Given the description of an element on the screen output the (x, y) to click on. 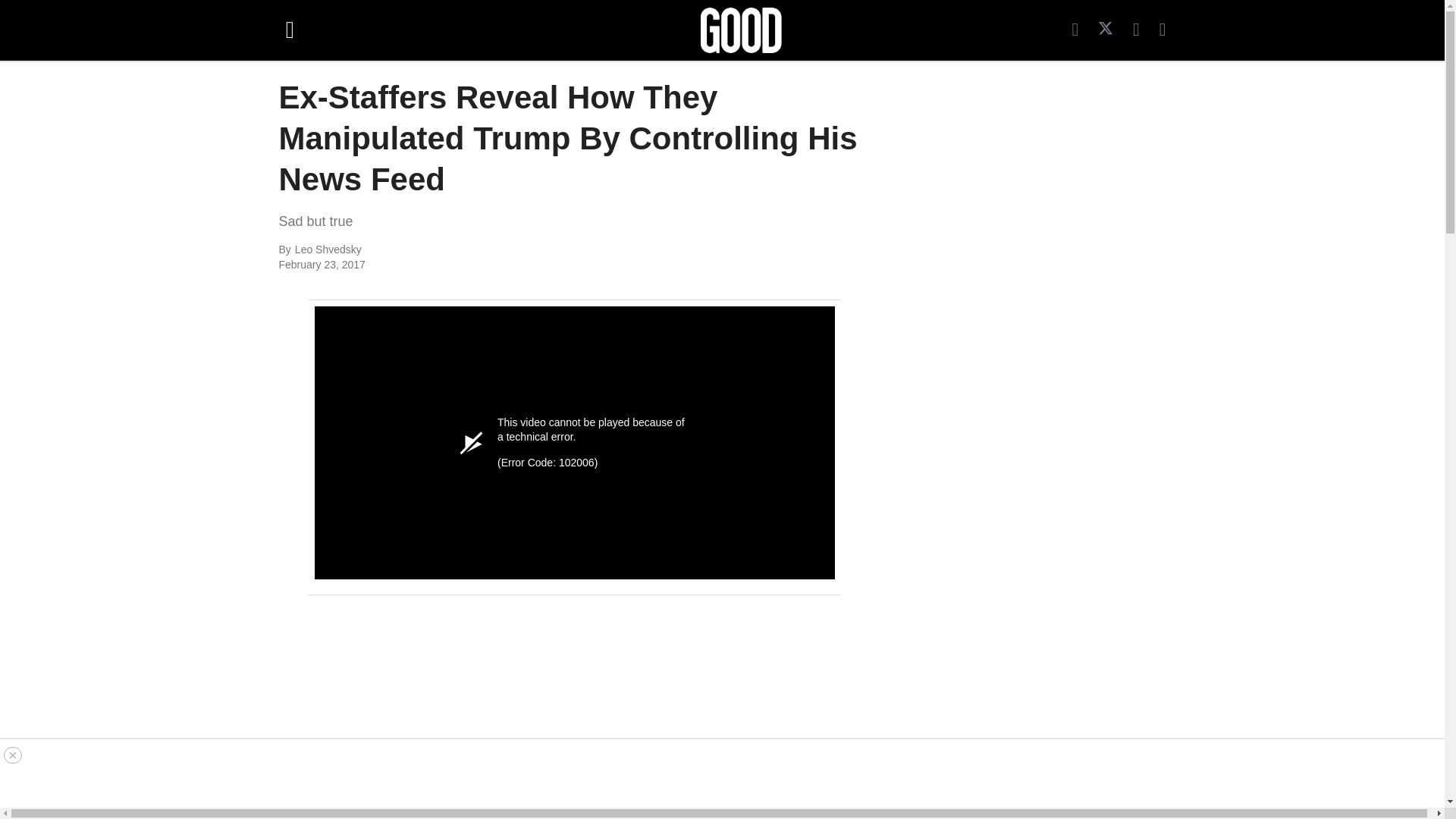
Leo Shvedsky (459, 249)
